Given the description of an element on the screen output the (x, y) to click on. 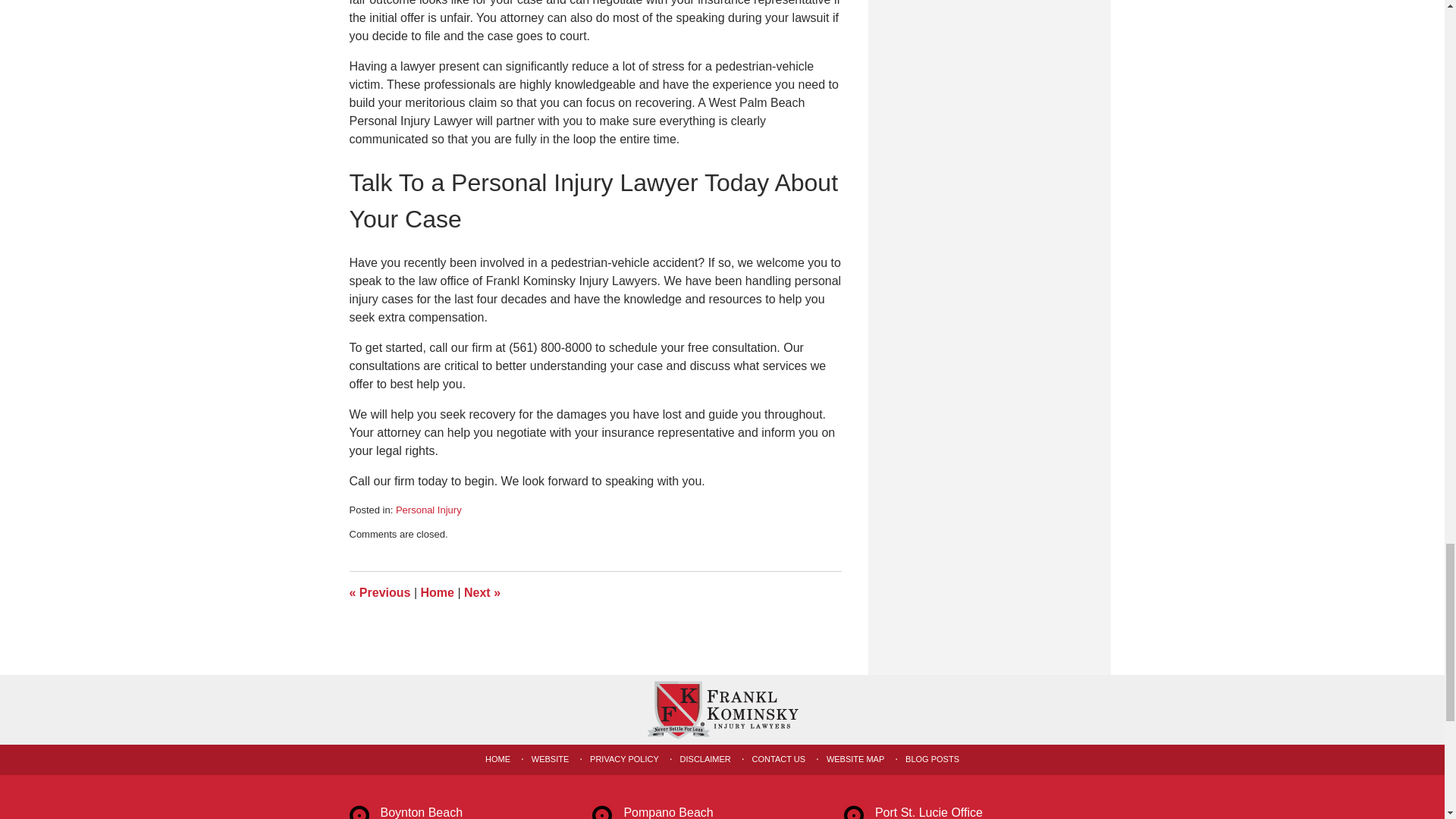
Personal Injury (428, 509)
Home (436, 592)
What Is Considered Too Wide of a Turn? (379, 592)
View all posts in Personal Injury (428, 509)
